Given the description of an element on the screen output the (x, y) to click on. 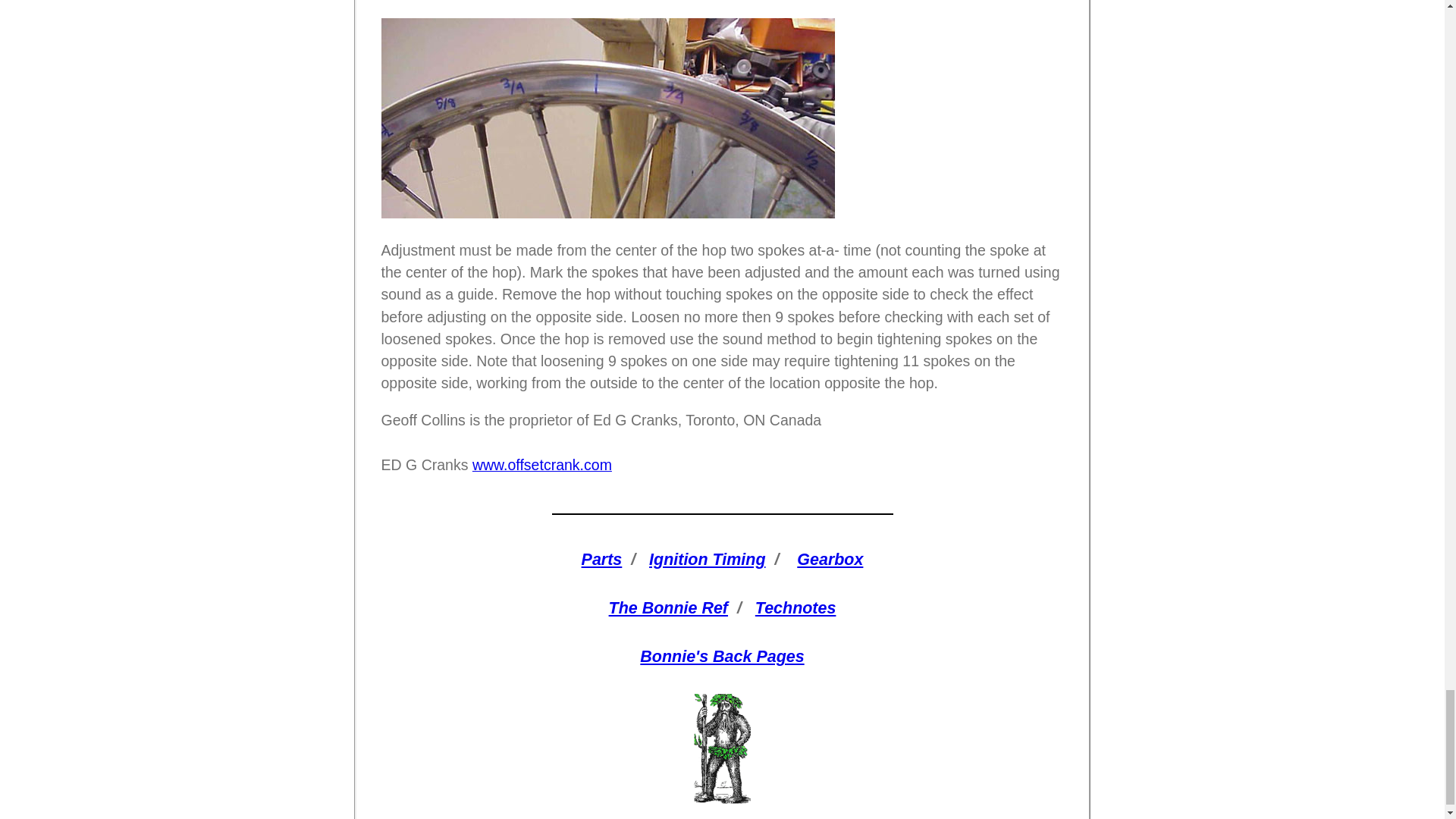
The Bonnie Ref (668, 607)
www.offsetcrank.com (541, 464)
Parts (601, 559)
